Given the description of an element on the screen output the (x, y) to click on. 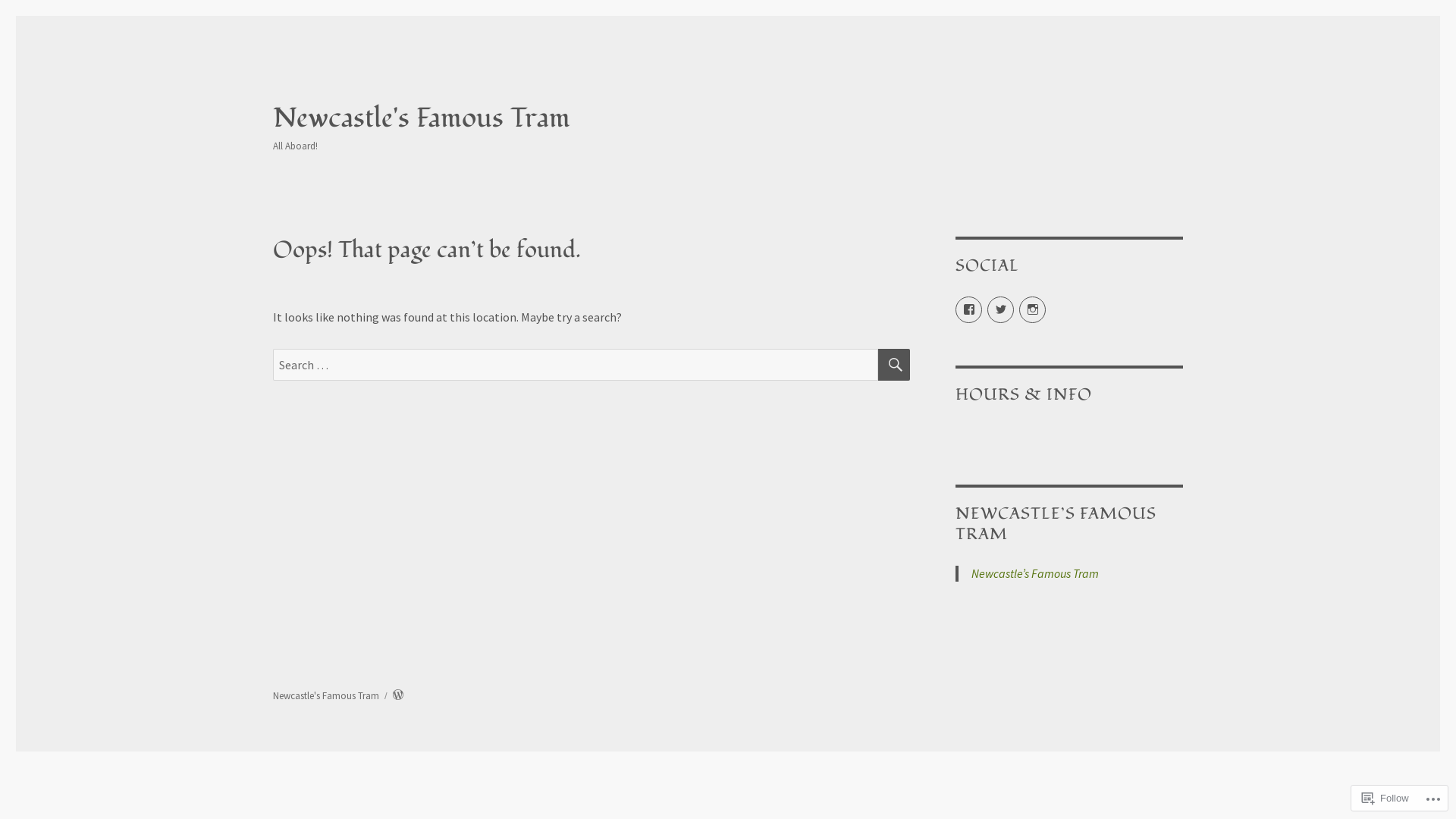
Follow Element type: text (1385, 797)
Newcastle's Famous Tram Element type: text (421, 117)
Create a website or blog at WordPress.com Element type: text (397, 695)
Newcastle's Famous Tram Element type: text (326, 695)
